Given the description of an element on the screen output the (x, y) to click on. 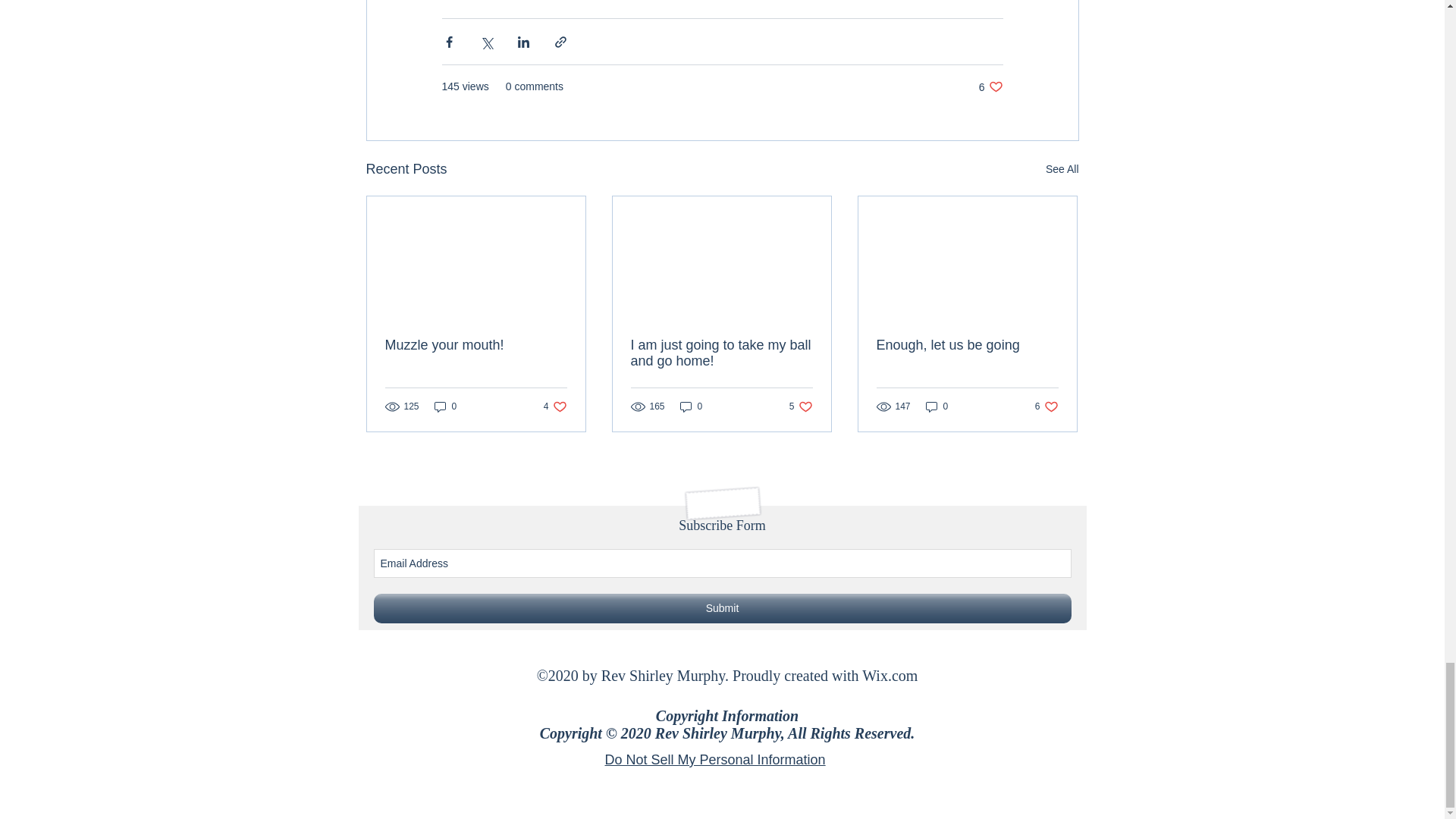
0 (1046, 406)
0 (937, 406)
0 (691, 406)
See All (555, 406)
Enough, let us be going (445, 406)
Muzzle your mouth! (990, 86)
I am just going to take my ball and go home! (800, 406)
